Given the description of an element on the screen output the (x, y) to click on. 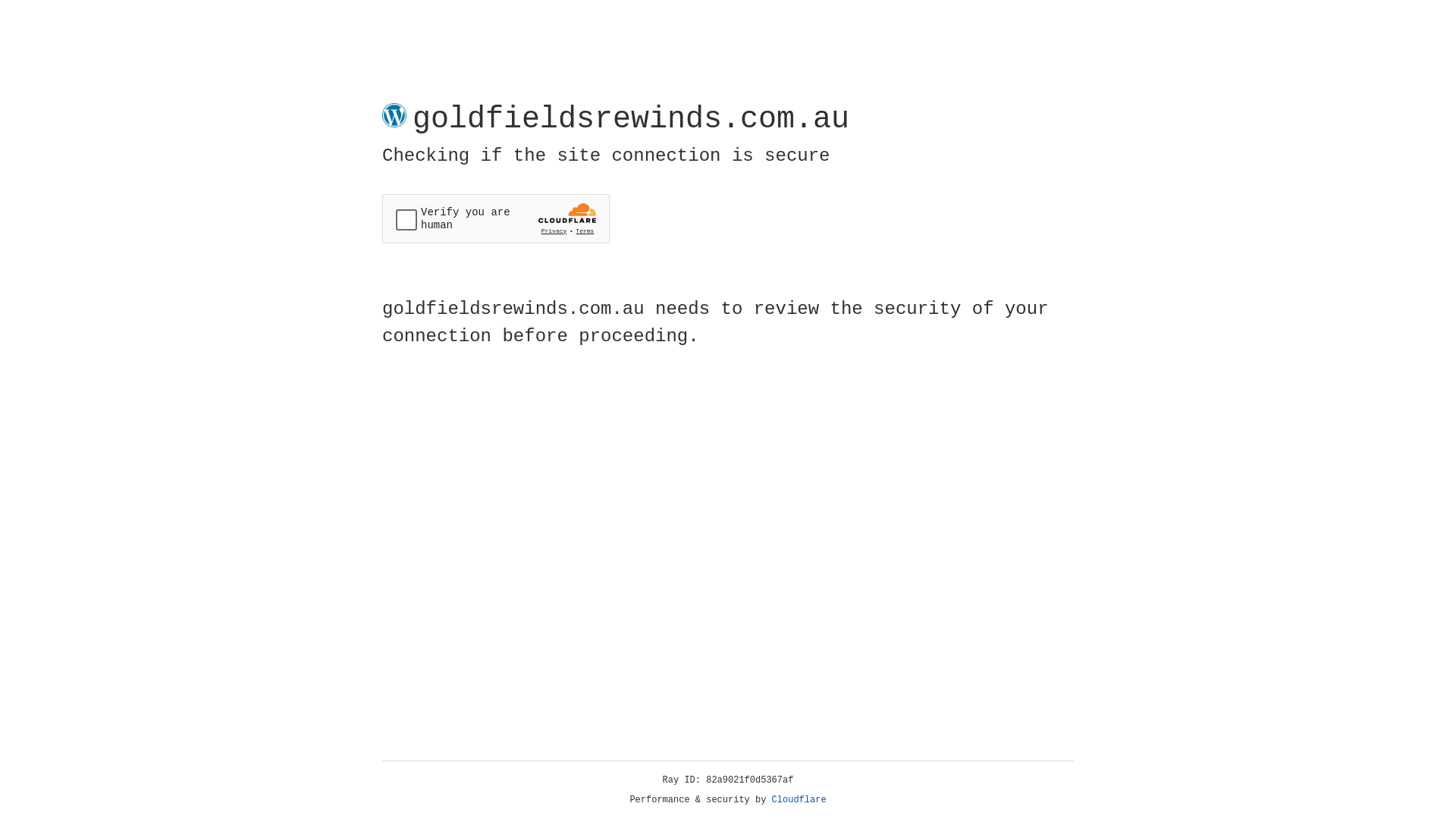
Cloudflare Element type: text (798, 799)
Widget containing a Cloudflare security challenge Element type: hover (495, 218)
